Given the description of an element on the screen output the (x, y) to click on. 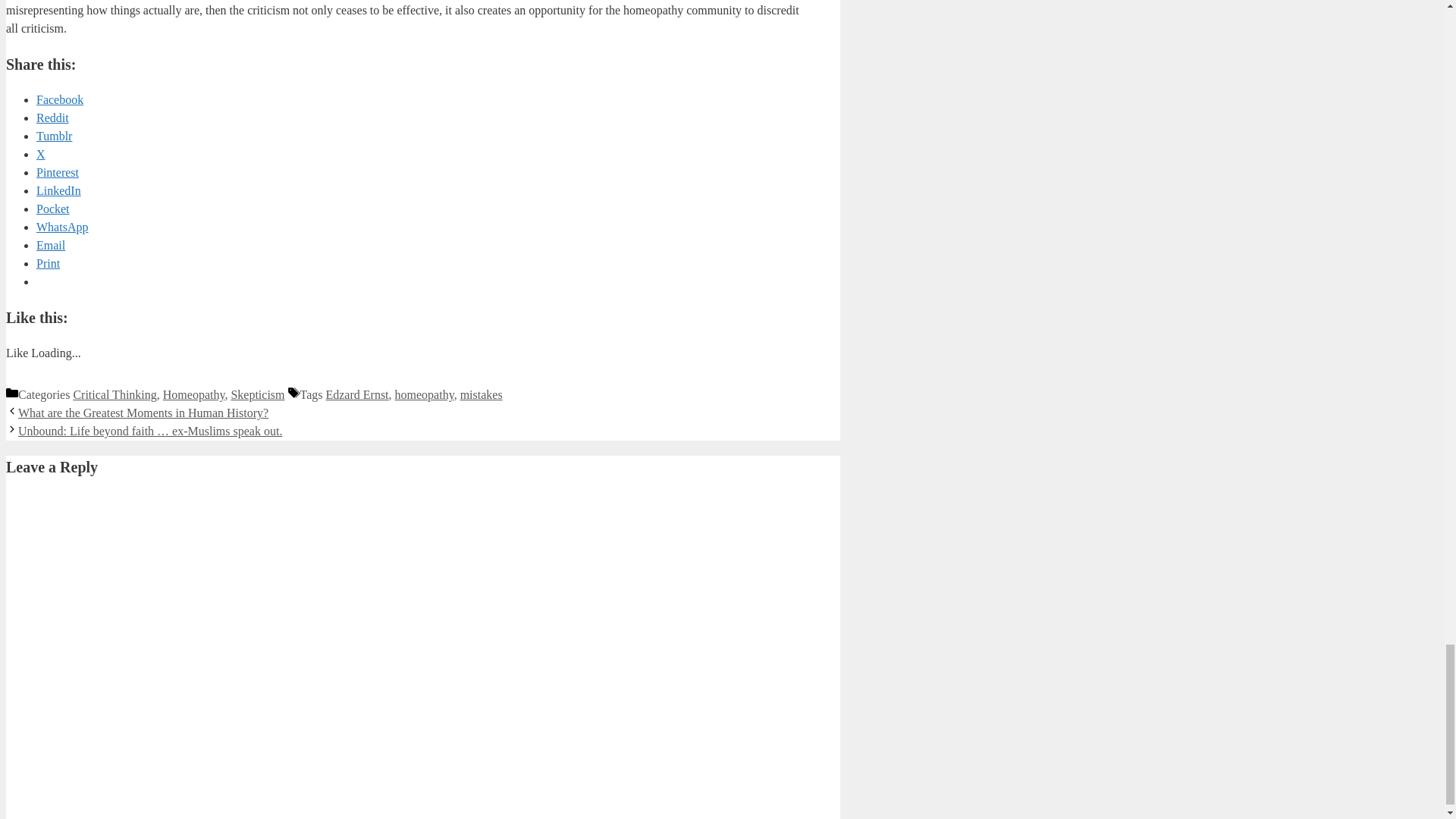
Click to share on LinkedIn (58, 190)
Facebook (59, 99)
Reddit (52, 117)
Click to share on Facebook (59, 99)
Click to share on WhatsApp (61, 226)
Click to share on X (40, 154)
Click to share on Reddit (52, 117)
Click to share on Pocket (52, 208)
Click to print (47, 263)
Click to email a link to a friend (50, 245)
Click to share on Pinterest (57, 172)
Click to share on Tumblr (53, 135)
Tumblr (53, 135)
